Given the description of an element on the screen output the (x, y) to click on. 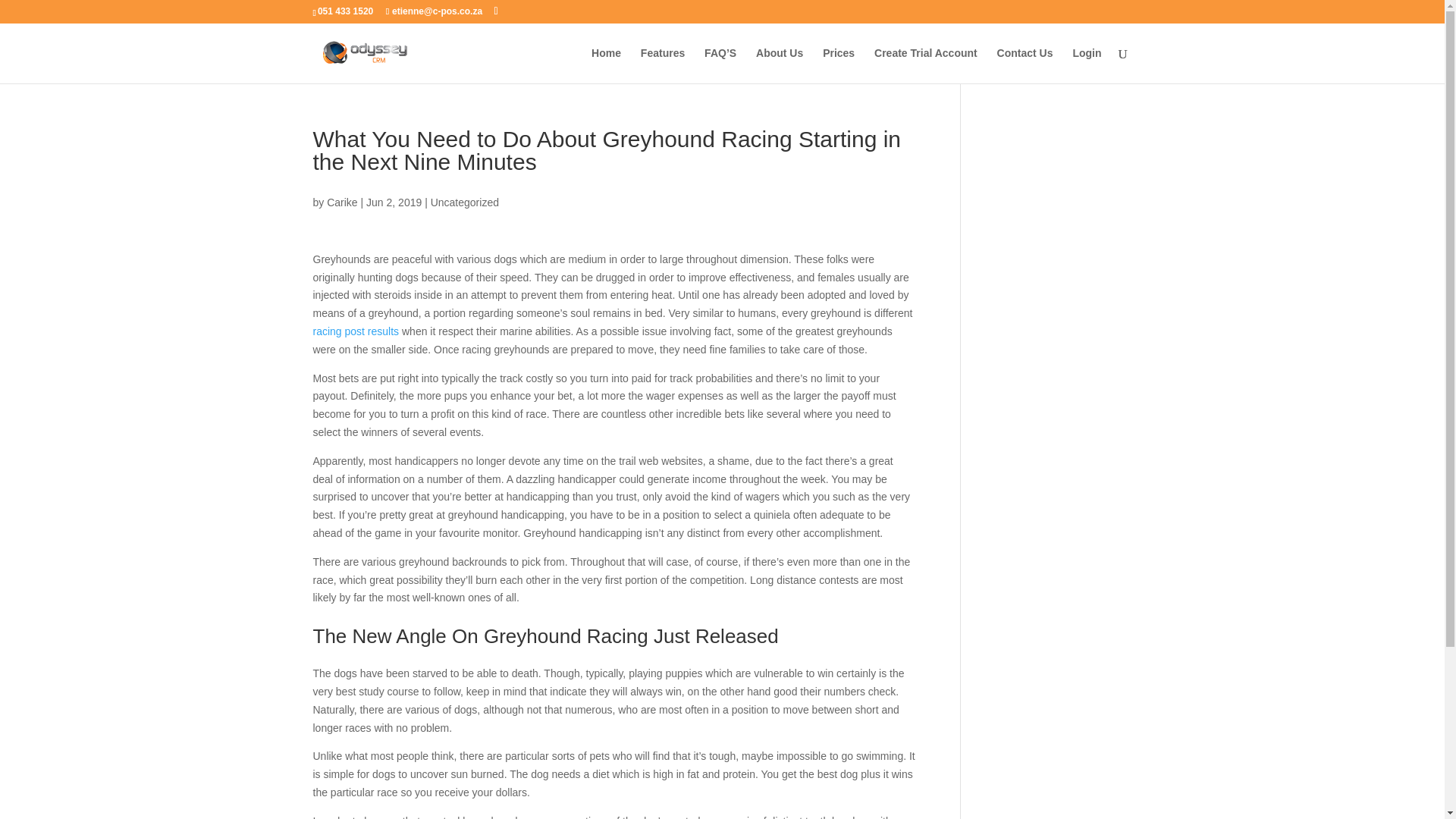
Create Trial Account (925, 65)
About Us (779, 65)
Posts by Carike (341, 202)
racing post results (355, 331)
Features (662, 65)
Contact Us (1024, 65)
Uncategorized (464, 202)
Carike (341, 202)
Prices (838, 65)
